Given the description of an element on the screen output the (x, y) to click on. 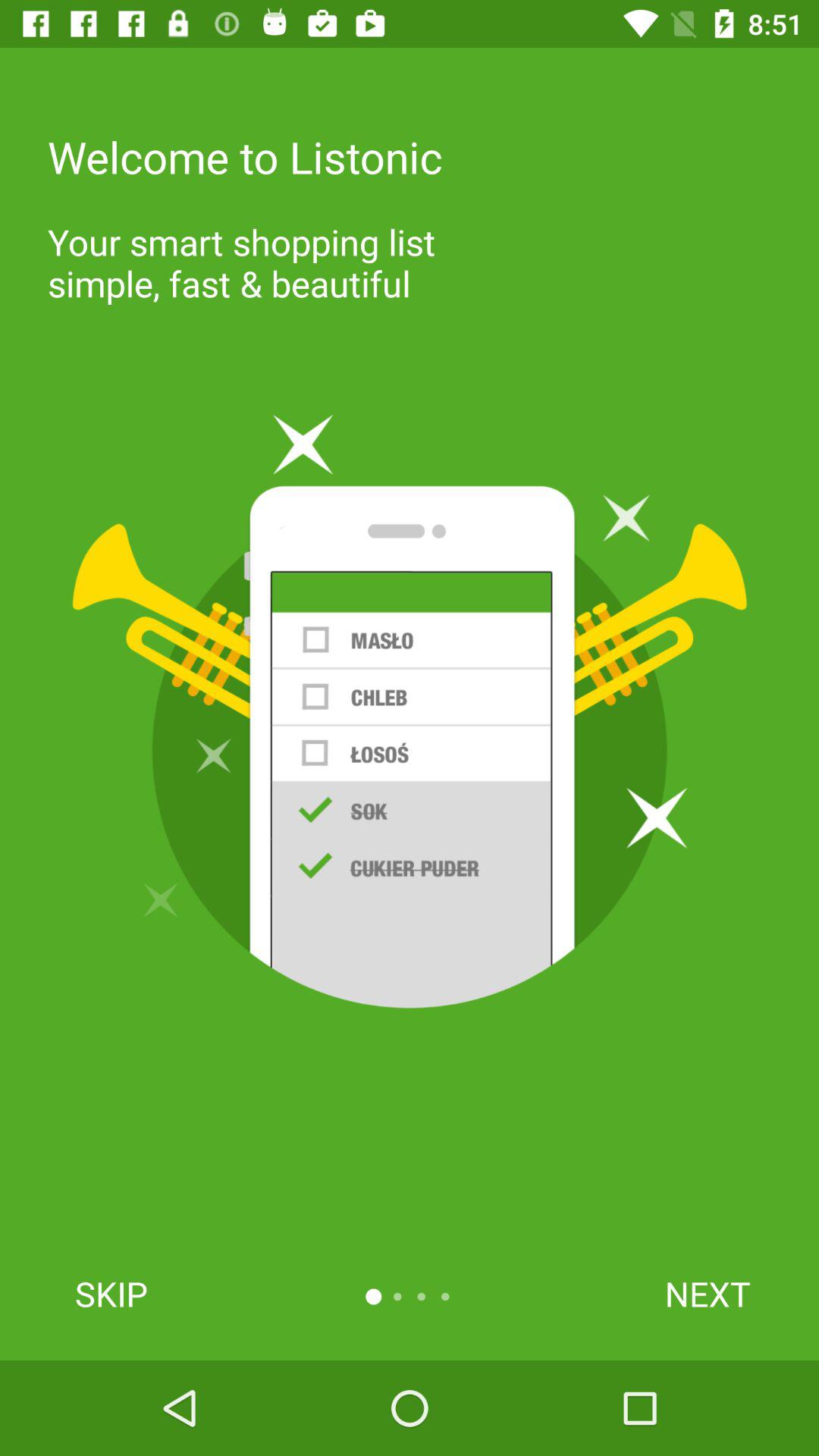
scroll until next (707, 1293)
